Given the description of an element on the screen output the (x, y) to click on. 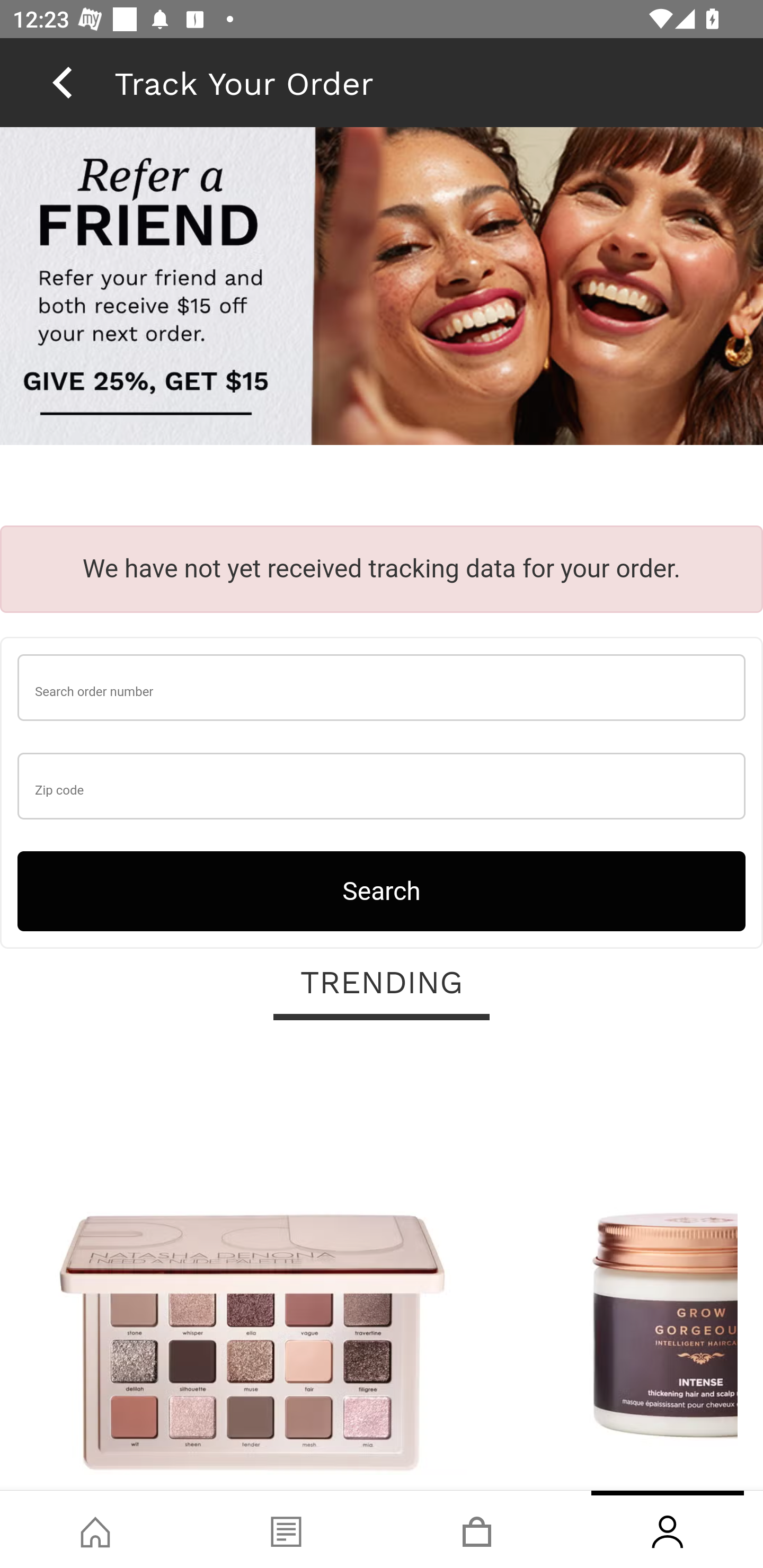
back (61, 82)
raf (381, 288)
Search (381, 890)
TRENDING (381, 983)
Natasha Denona I Need A Nude Palette (252, 1266)
Shop, tab, 1 of 4 (95, 1529)
Blog, tab, 2 of 4 (285, 1529)
Basket, tab, 3 of 4 (476, 1529)
Account, tab, 4 of 4 (667, 1529)
